Given the description of an element on the screen output the (x, y) to click on. 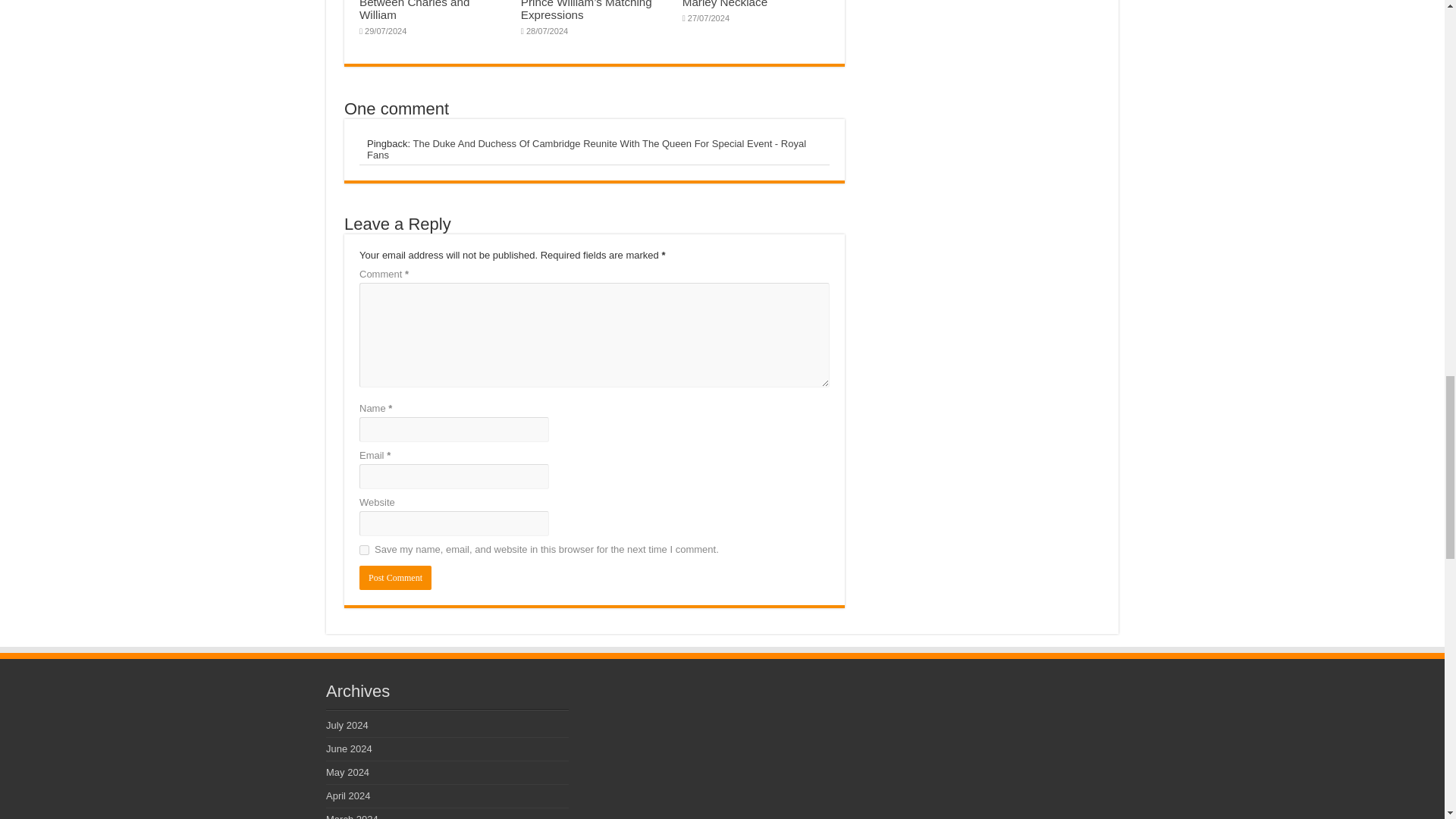
yes (364, 550)
Post Comment (394, 577)
